Given the description of an element on the screen output the (x, y) to click on. 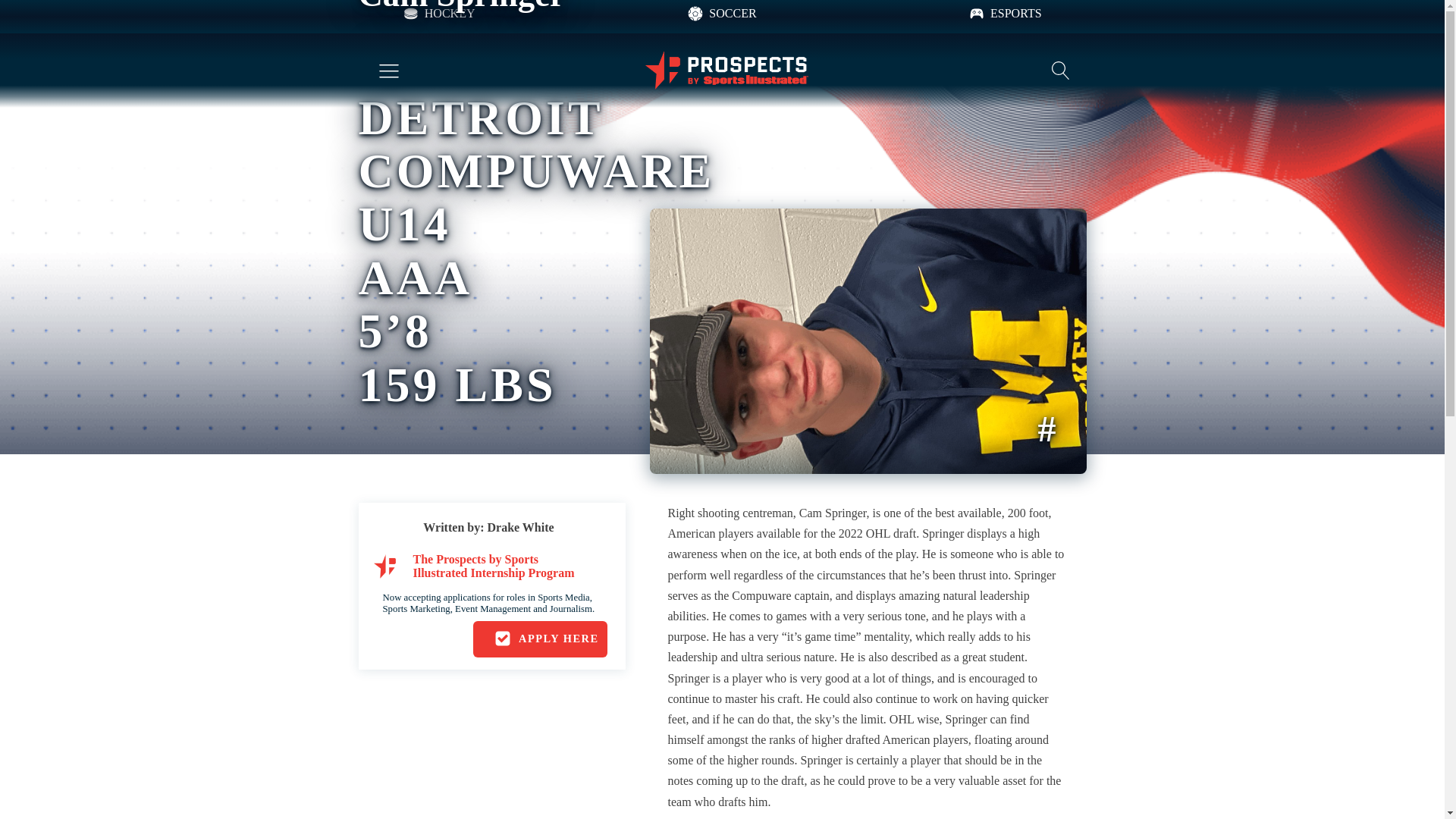
HOCKEY (438, 13)
Search (25, 9)
APPLY HERE (540, 638)
ESPORTS (1004, 13)
SOCCER (721, 13)
